Given the description of an element on the screen output the (x, y) to click on. 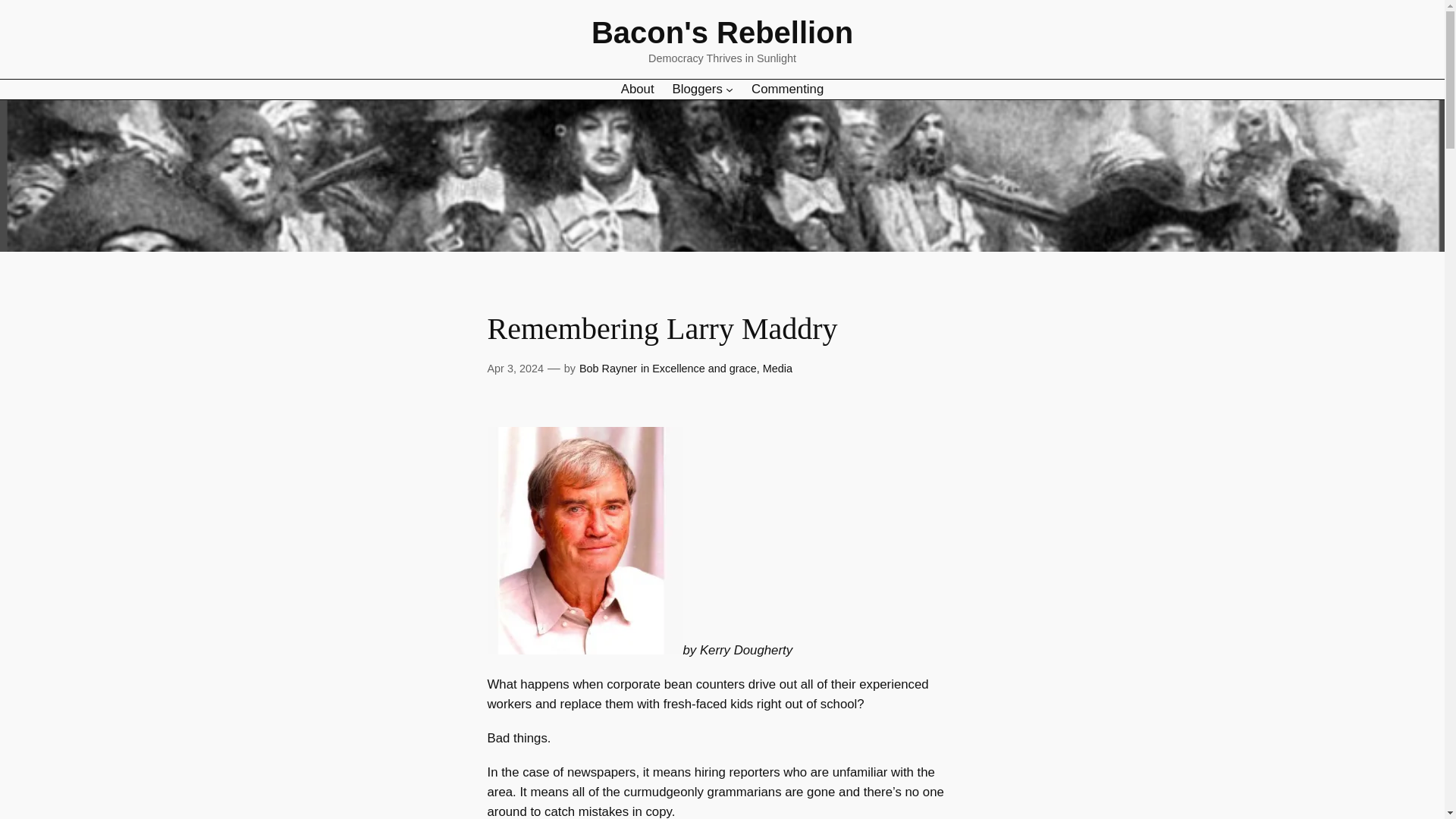
Apr 3, 2024 (514, 368)
Bob Rayner (608, 368)
Commenting (787, 88)
Media (777, 368)
Bacon's Rebellion (722, 32)
About (637, 88)
Bloggers (697, 88)
Excellence and grace (704, 368)
